Given the description of an element on the screen output the (x, y) to click on. 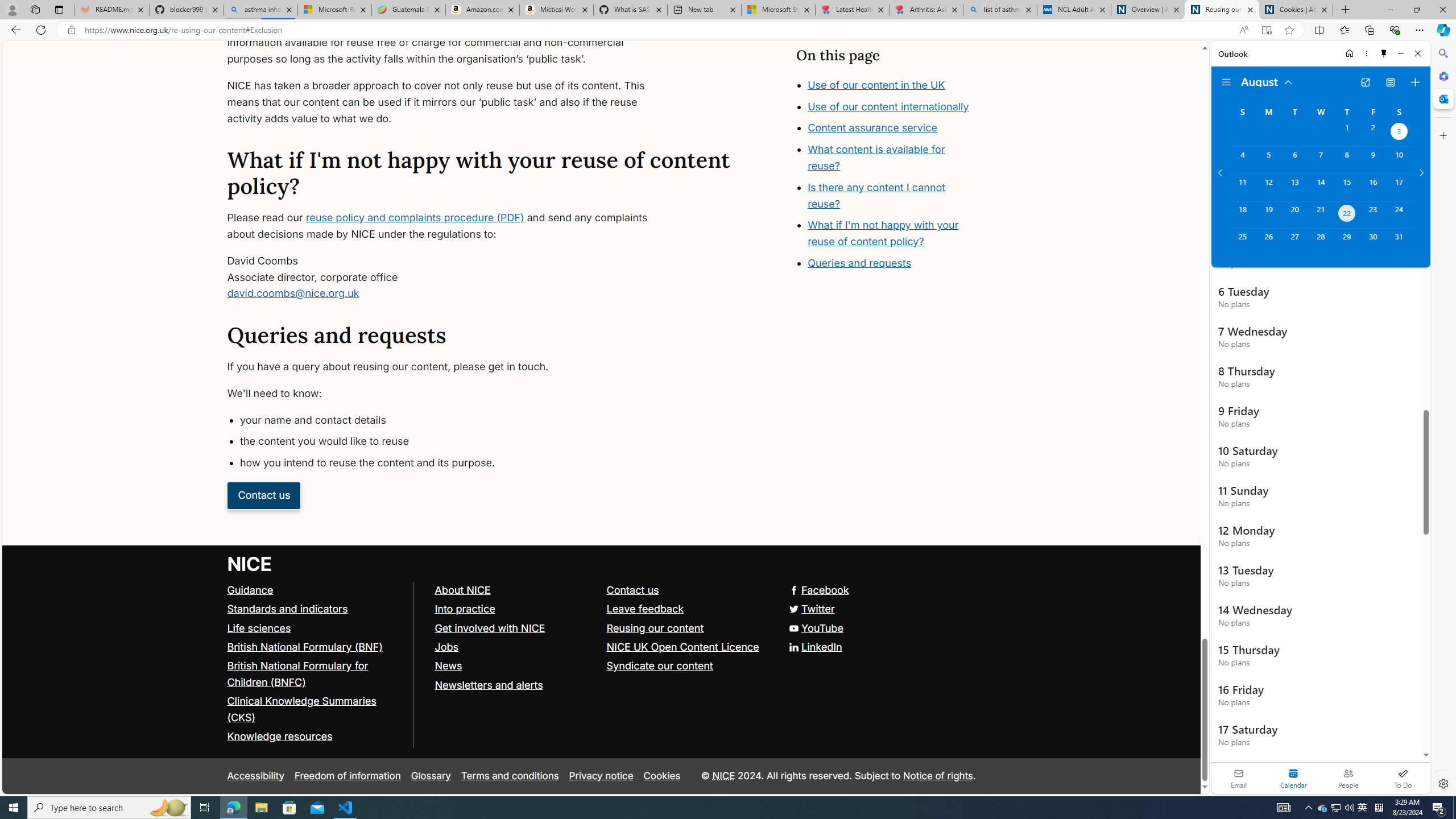
the content you would like to reuse (452, 441)
Accessibility (255, 775)
Privacy notice (601, 775)
your name and contact details (452, 420)
Into practice (464, 608)
Thursday, August 8, 2024.  (1346, 159)
Tuesday, August 20, 2024.  (1294, 214)
Guidance (315, 589)
